Given the description of an element on the screen output the (x, y) to click on. 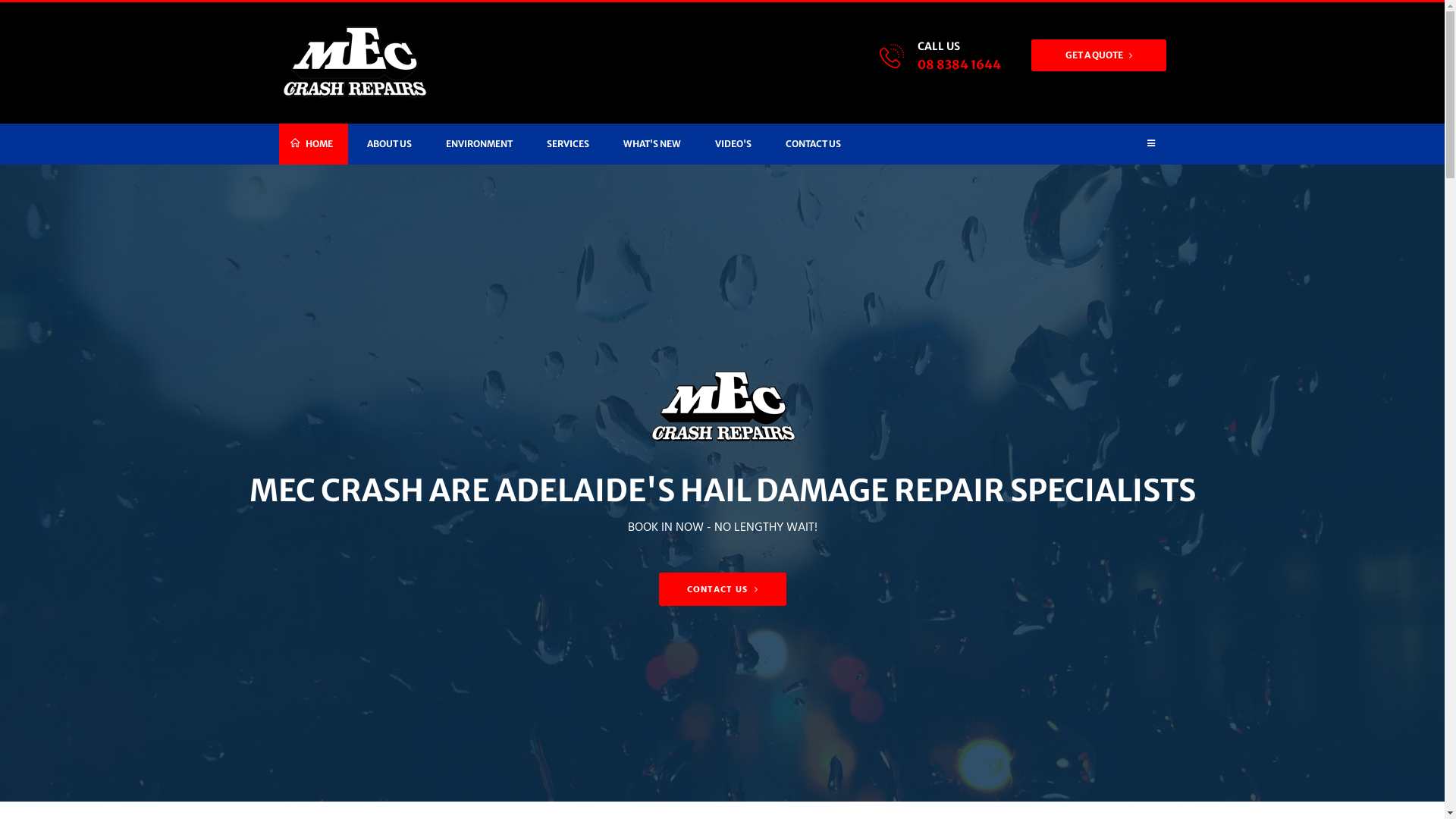
CALL US
08 8384 1644 Element type: text (959, 55)
VIDEO'S Element type: text (732, 143)
ENVIRONMENT Element type: text (478, 143)
CONTACT US Element type: text (813, 143)
CONTACT US Element type: text (721, 588)
HOME Element type: text (313, 143)
MEC Crash Repairs Element type: hover (354, 62)
WHAT'S NEW Element type: text (652, 143)
ABOUT US Element type: text (388, 143)
GET A QUOTE Element type: text (1098, 55)
SERVICES Element type: text (566, 143)
